Given the description of an element on the screen output the (x, y) to click on. 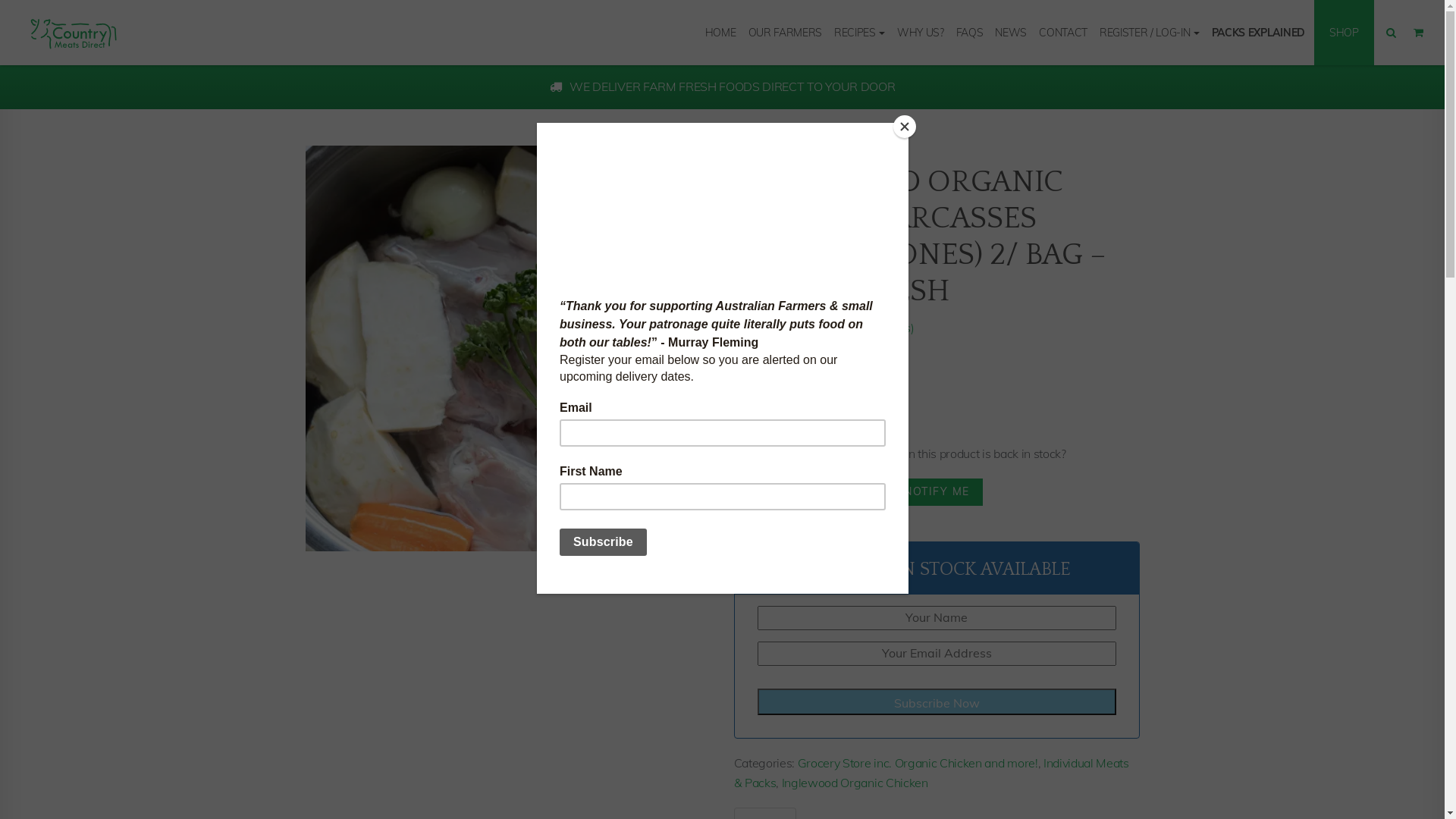
OUR FARMERS Element type: text (784, 32)
HOME Element type: text (720, 32)
NOTIFY ME Element type: text (936, 491)
FAQS Element type: text (969, 32)
(3 customer reviews) Element type: text (858, 327)
WHY US? Element type: text (920, 32)
PACKS EXPLAINED Element type: text (1258, 32)
CONTACT Element type: text (1062, 32)
Grocery Store inc. Organic Chicken and more! Element type: text (917, 762)
SHOP Element type: text (1344, 32)
RECIPES Element type: text (859, 32)
NEWS Element type: text (1010, 32)
REGISTER / LOG-IN Element type: text (1149, 32)
Inglewood Organic Chicken Element type: text (854, 782)
Subscribe Now Element type: text (935, 701)
Individual Meats & Packs Element type: text (931, 772)
